Given the description of an element on the screen output the (x, y) to click on. 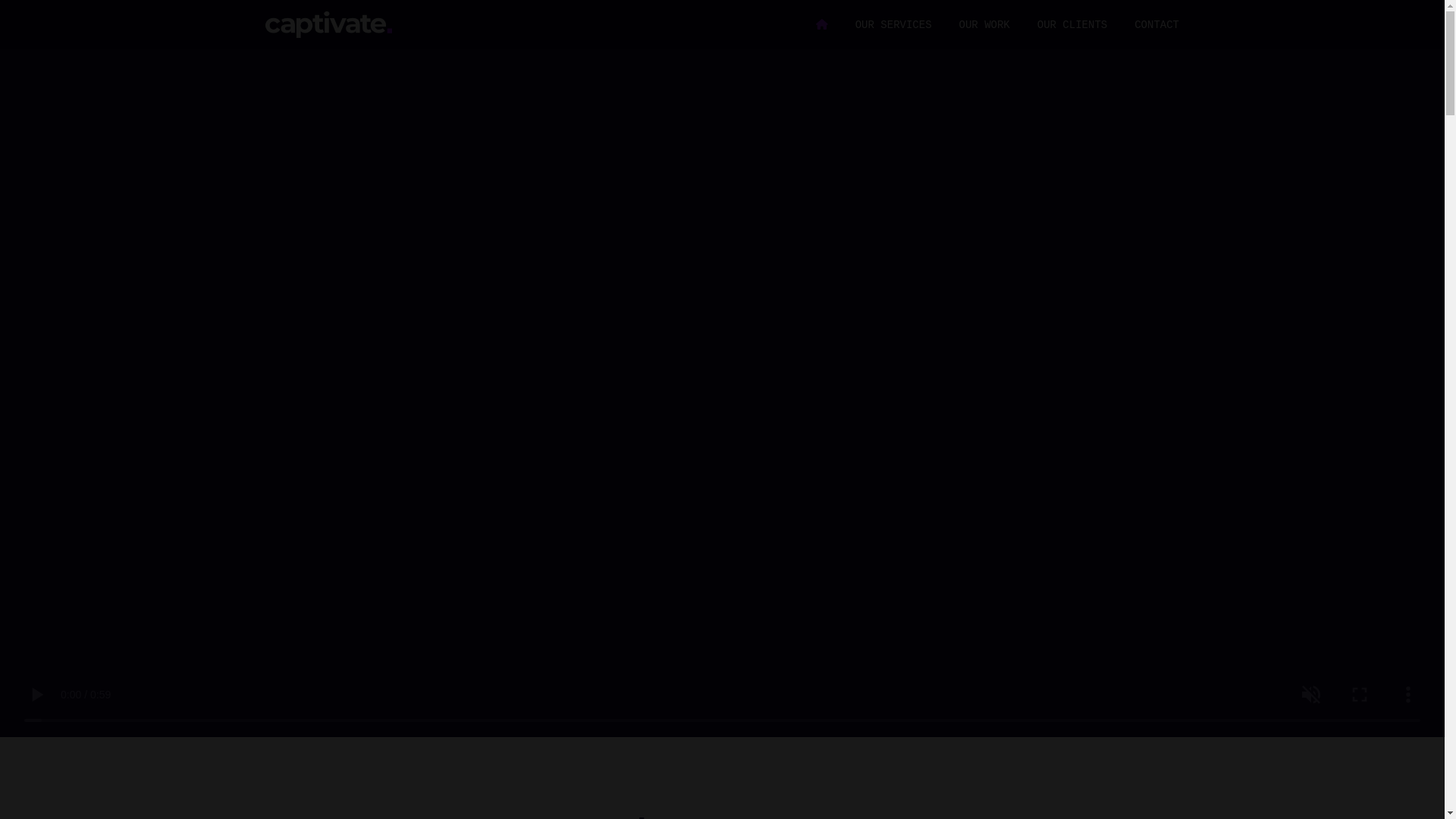
OUR WORK Element type: text (984, 24)
OUR SERVICES Element type: text (893, 24)
CONTACT Element type: text (1156, 24)
OUR CLIENTS Element type: text (1072, 24)
